Given the description of an element on the screen output the (x, y) to click on. 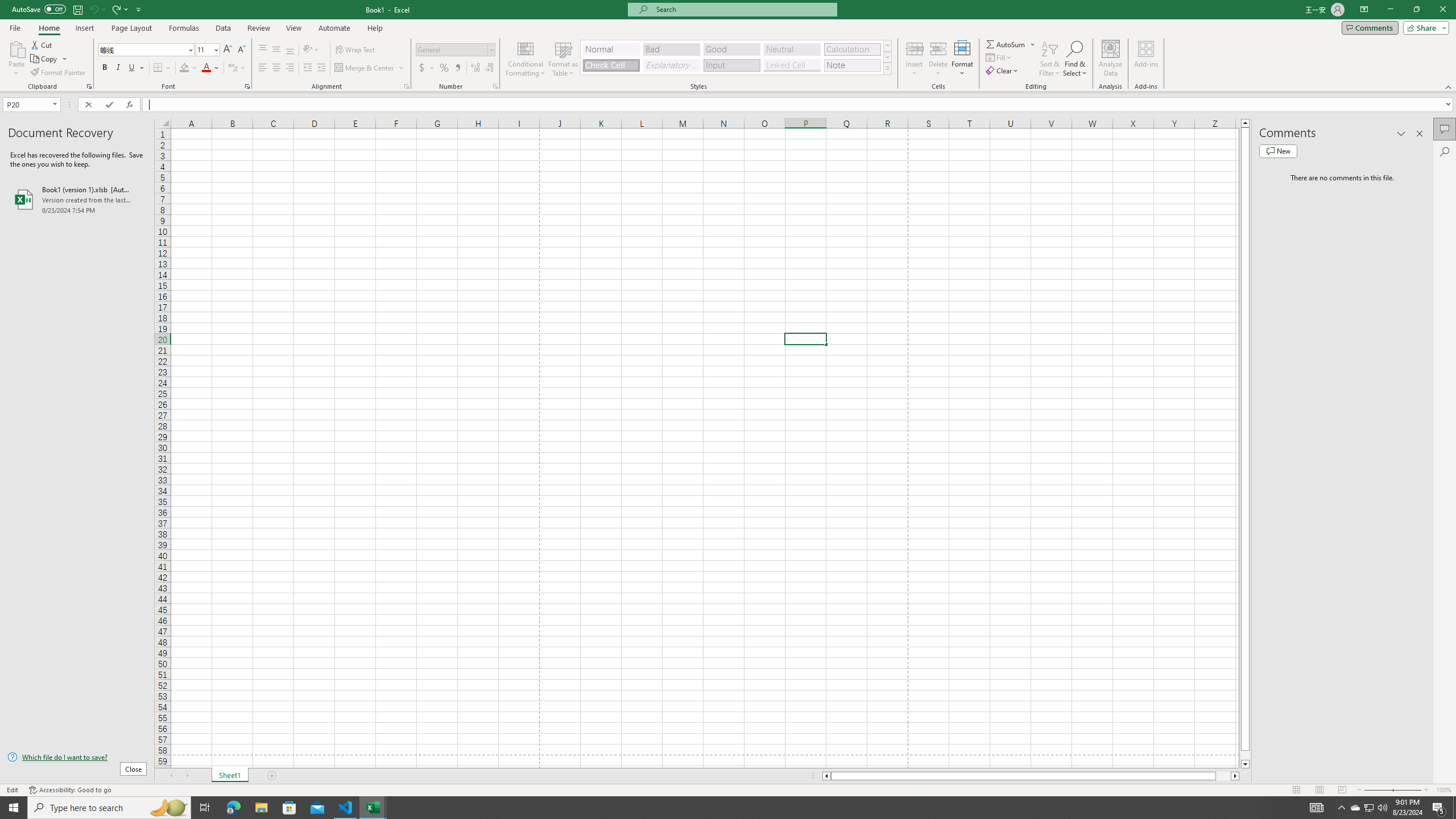
Accounting Number Format (422, 67)
Format Cell Font (247, 85)
Orientation (311, 49)
Font Size (204, 49)
Align Right (290, 67)
Format (962, 58)
Wrap Text (355, 49)
Font Color (210, 67)
Fill (999, 56)
